Given the description of an element on the screen output the (x, y) to click on. 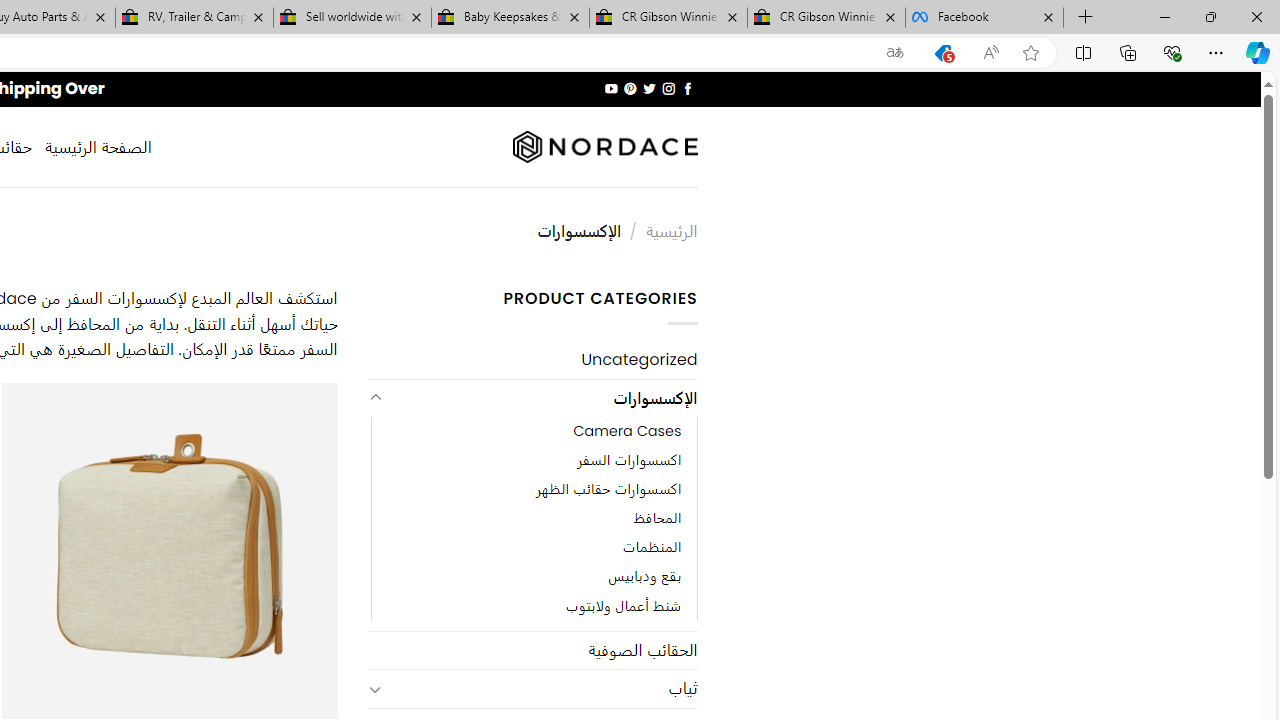
This site has coupons! Shopping in Microsoft Edge, 5 (943, 53)
